Given the description of an element on the screen output the (x, y) to click on. 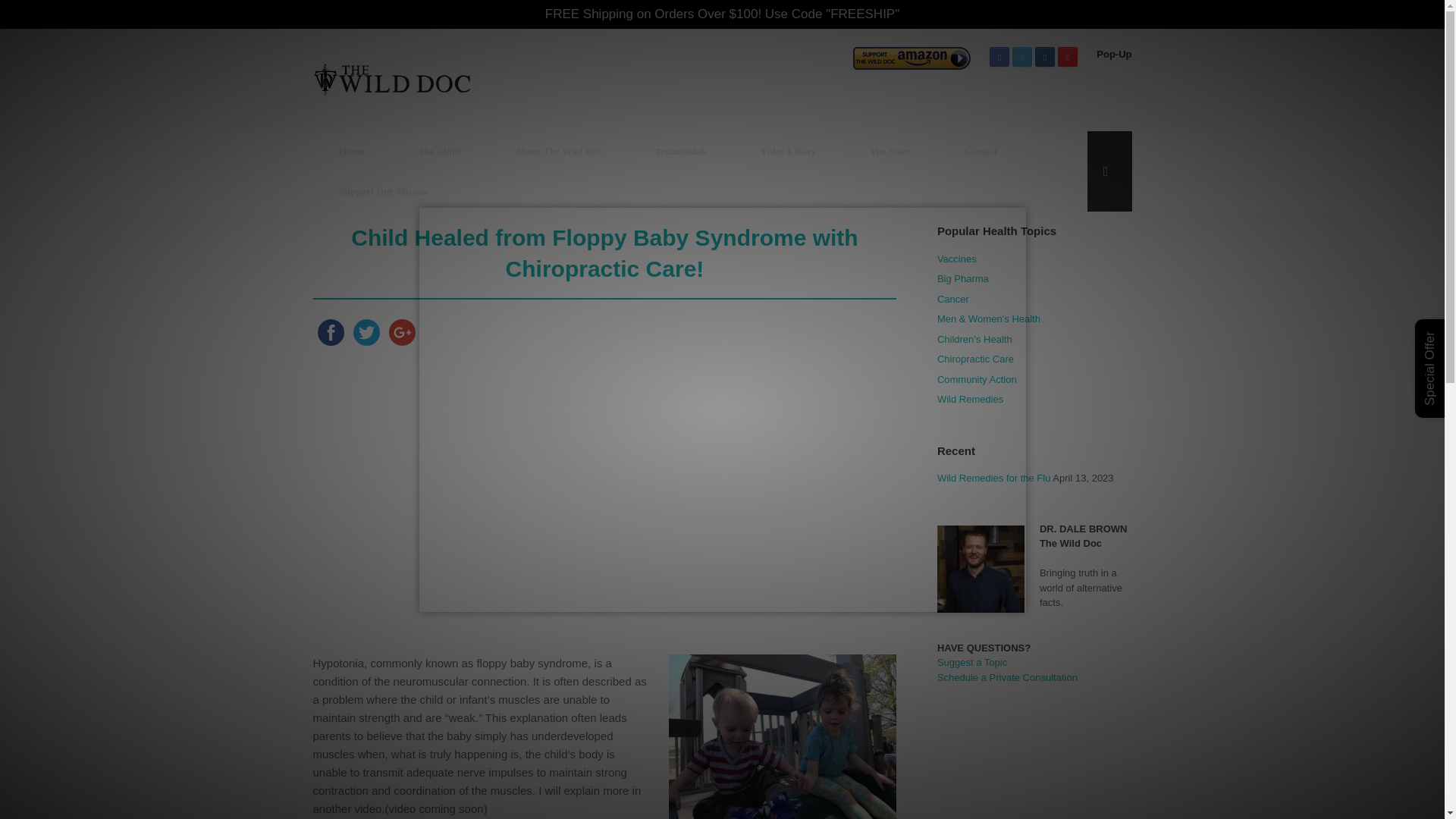
The Clinic (439, 151)
Video Libary (788, 151)
twitter (366, 332)
google (401, 332)
The Wild Doc Facebook (999, 56)
The Wild Doc Instagram (1044, 56)
facebook (330, 332)
The Wild Doc (390, 80)
Testimonials (680, 151)
About The Wild Doc (557, 151)
The Store (890, 151)
The Wild Doc YouTube (1067, 56)
Home (351, 151)
The Wild Doc Twitter (1021, 56)
